Given the description of an element on the screen output the (x, y) to click on. 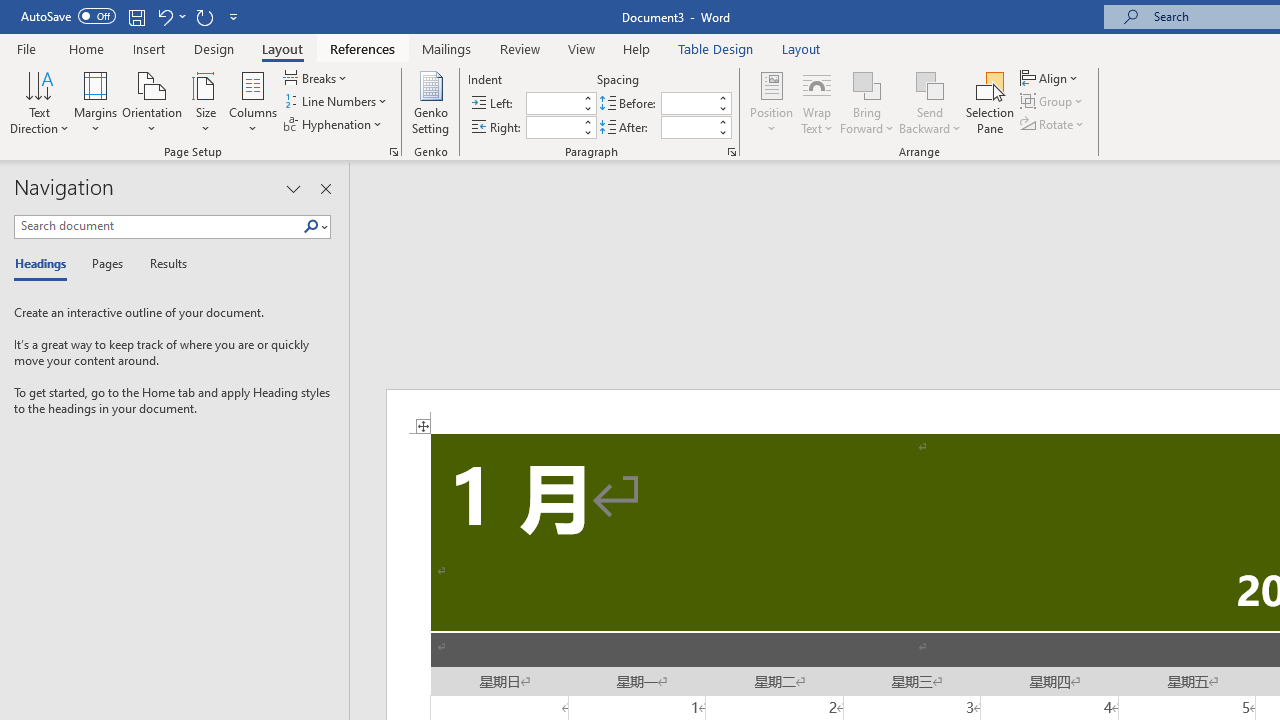
Search (311, 227)
Columns (253, 102)
Position (771, 102)
Margins (95, 102)
Page Setup... (393, 151)
Wrap Text (817, 102)
Paragraph... (731, 151)
More (722, 121)
Rotate (1053, 124)
Customize Quick Access Toolbar (234, 15)
Pages (105, 264)
Layout (801, 48)
Orientation (152, 102)
Headings (45, 264)
Bring Forward (867, 102)
